Given the description of an element on the screen output the (x, y) to click on. 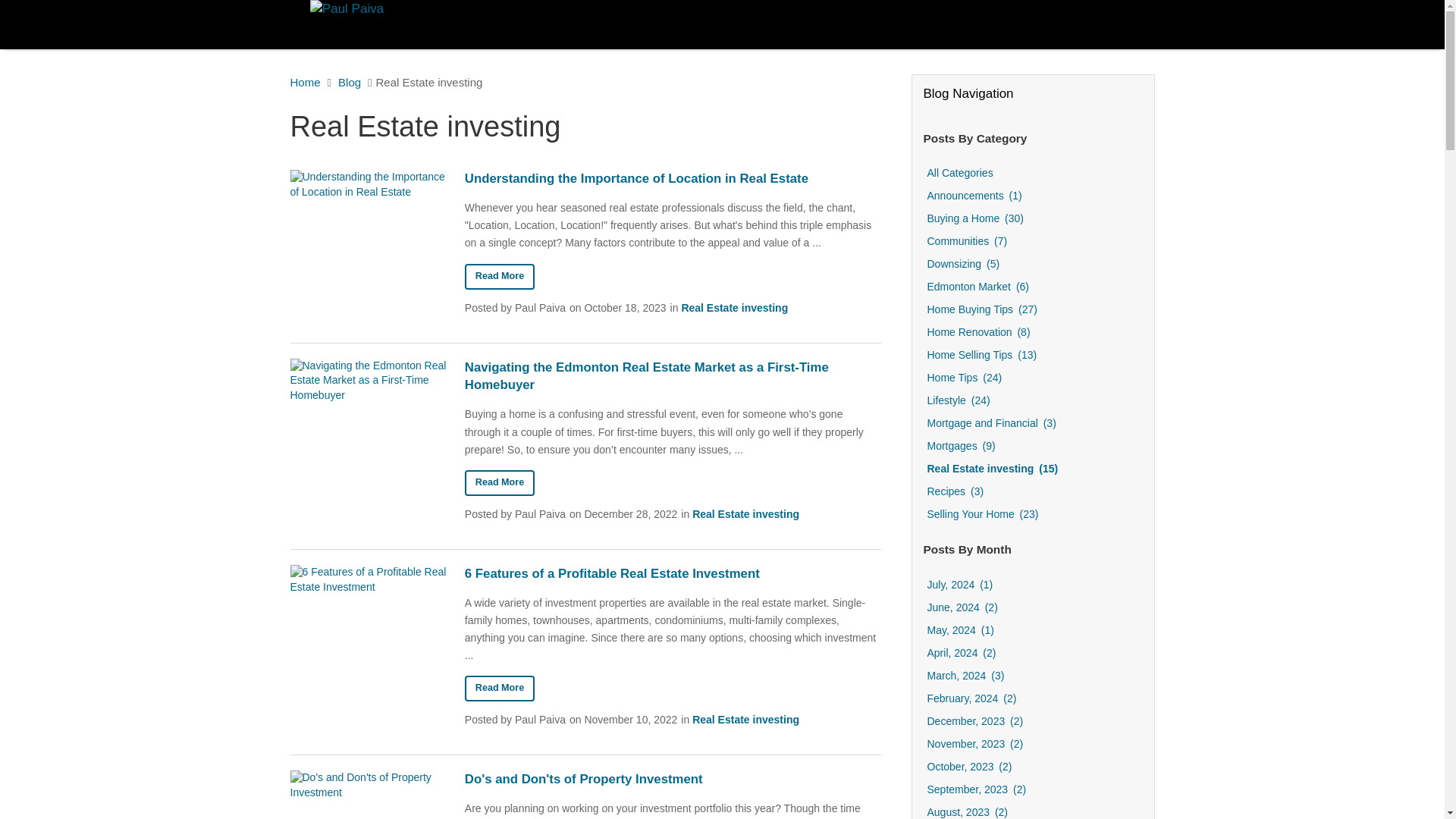
Understanding the Importance of Location in Real Estate (672, 178)
Understanding the Importance of Location in Real Estate (499, 276)
Do's and Don'ts of Property Investment (672, 779)
6 Features of a Profitable Real Estate Investment (672, 574)
6 Features of a Profitable Real Estate Investment (499, 688)
